Given the description of an element on the screen output the (x, y) to click on. 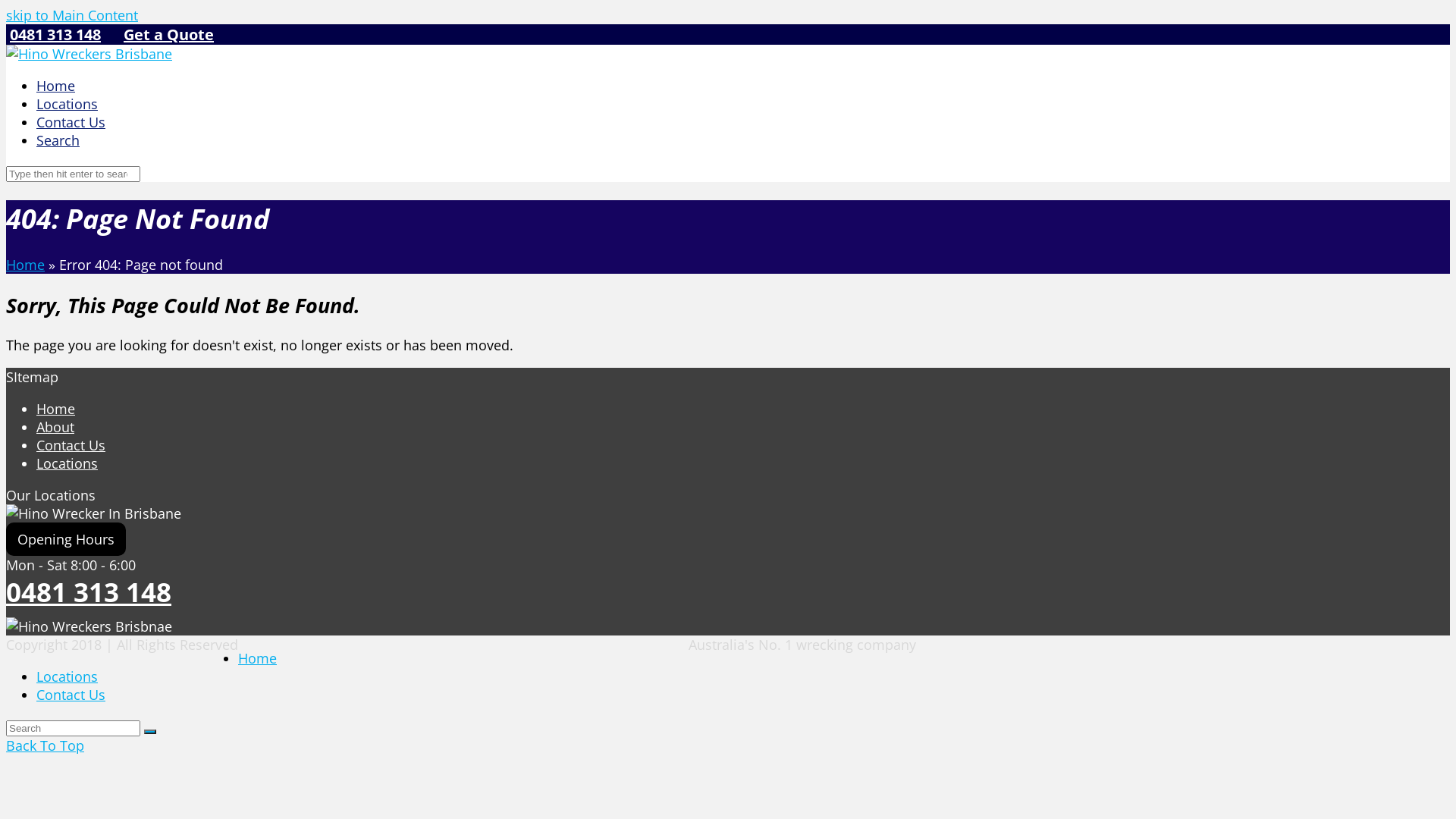
skip to Main Content Element type: text (72, 15)
Hino Wreckers Brisbane Element type: hover (89, 53)
Locations Element type: text (66, 676)
Locations Element type: text (66, 463)
0481 313 148 Element type: text (88, 591)
Home Element type: text (55, 85)
Search Element type: text (57, 140)
Home Element type: text (257, 658)
0481 313 148 Element type: text (54, 34)
Contact Us Element type: text (70, 445)
About Element type: text (55, 426)
Get a Quote Element type: text (168, 34)
Hino Wreckers Brisbnae Element type: hover (89, 626)
Contact Us Element type: text (70, 121)
Back To Top Element type: text (45, 745)
Hino wrecker In Brisbane Element type: hover (93, 513)
Home Element type: text (55, 408)
Home Element type: text (25, 264)
Contact Us Element type: text (70, 694)
Locations Element type: text (66, 103)
